Given the description of an element on the screen output the (x, y) to click on. 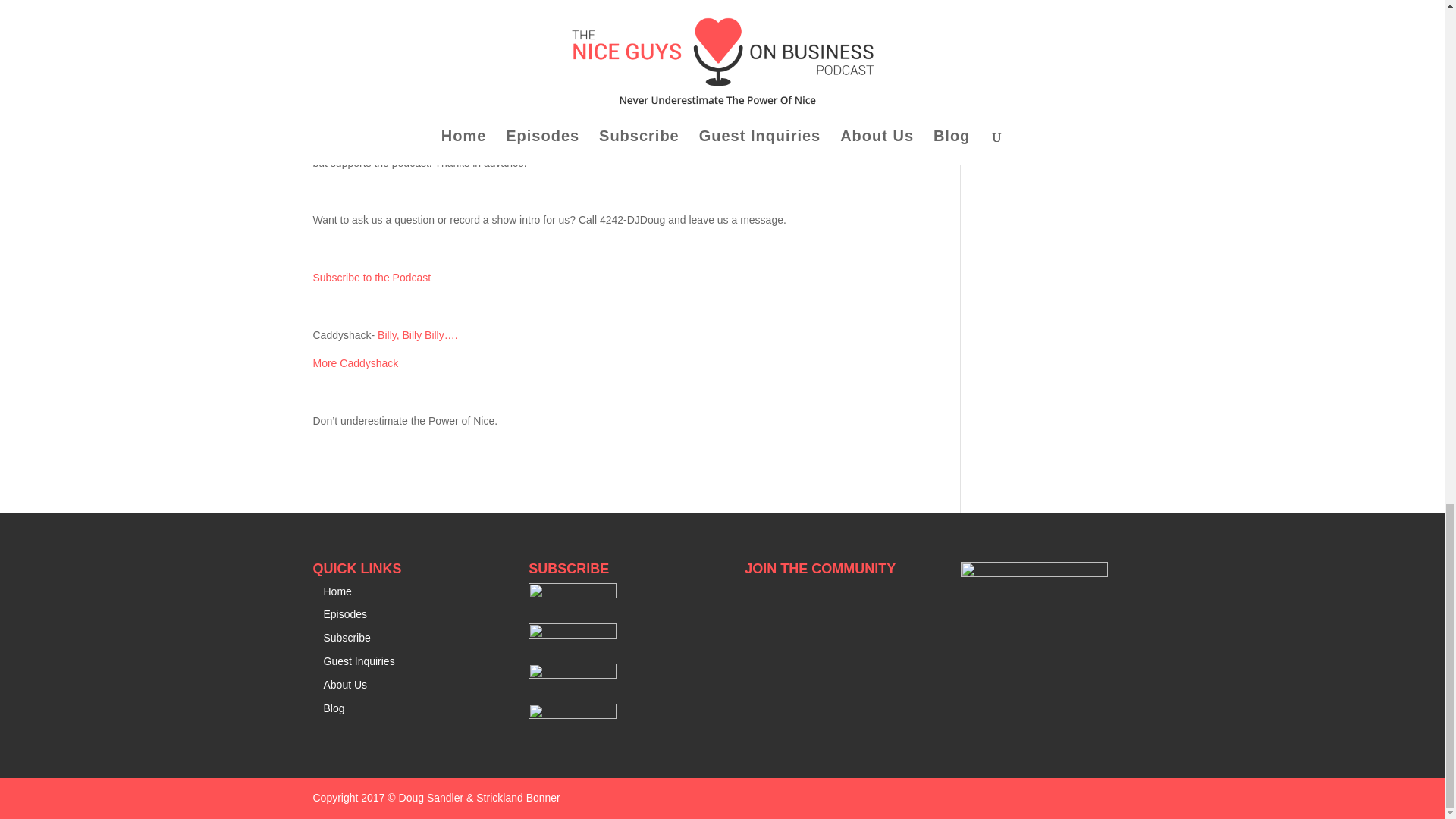
Nice Guys on Business on iTunes (571, 594)
Nice Guys on Business on Google Play (571, 674)
Nice Guys on Business on Overcast (571, 715)
Nice Guys on Business on Stitcher (571, 634)
